Given the description of an element on the screen output the (x, y) to click on. 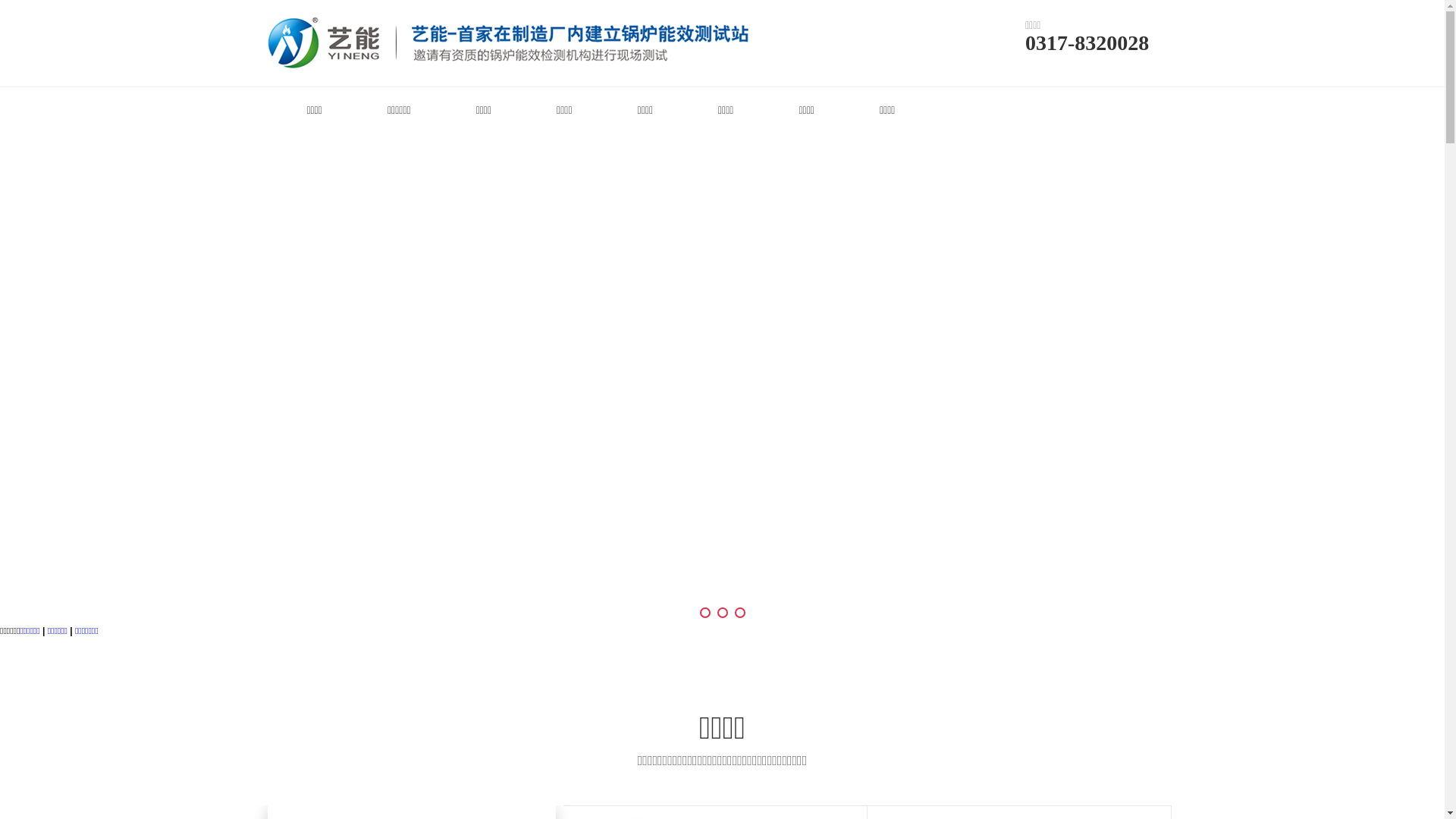
01 Element type: hover (722, 378)
